Given the description of an element on the screen output the (x, y) to click on. 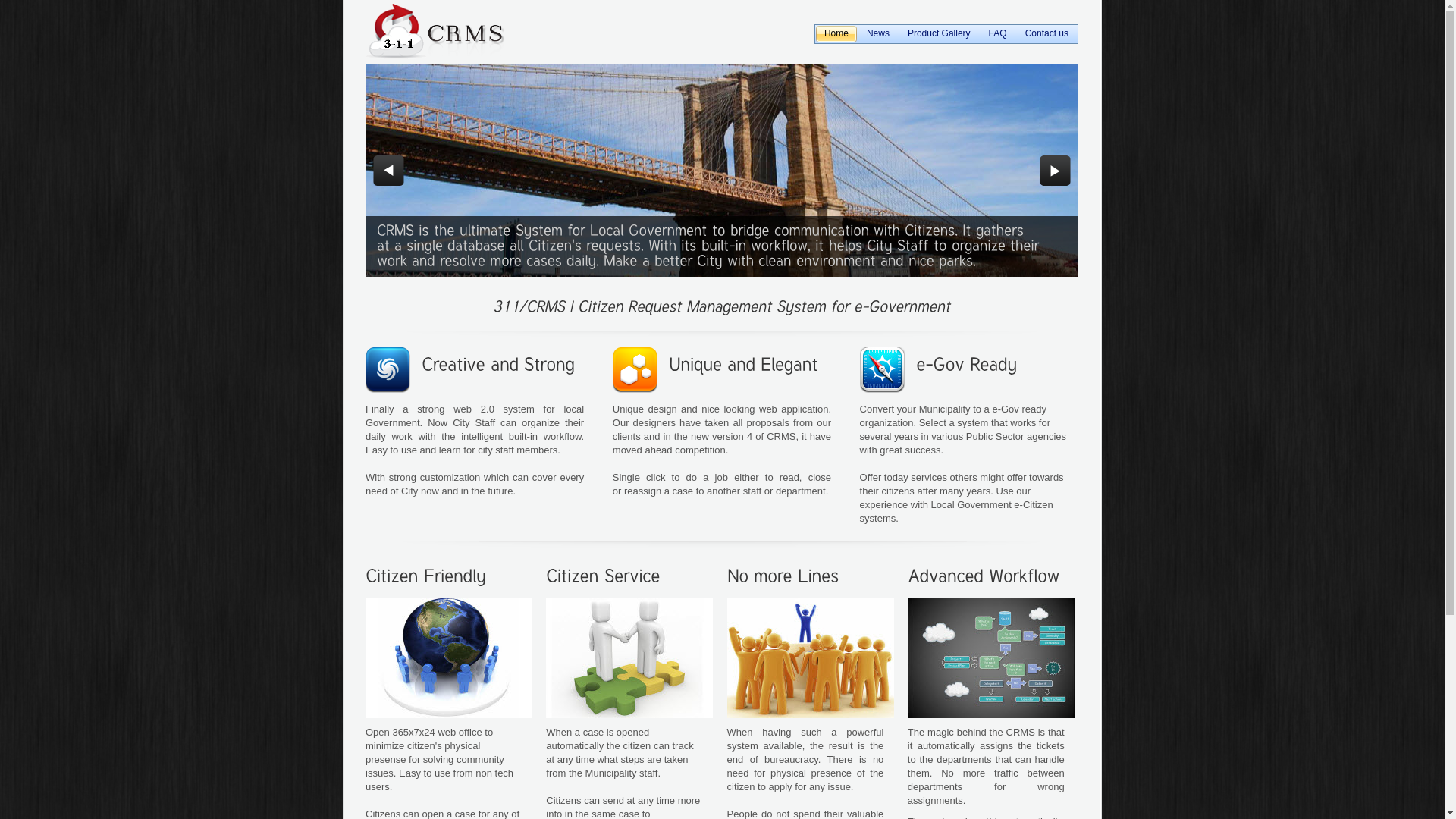
FAQ Element type: text (997, 34)
Contact us Element type: text (1046, 34)
Home Element type: text (836, 34)
News Element type: text (877, 34)
Product Gallery Element type: text (938, 34)
